Given the description of an element on the screen output the (x, y) to click on. 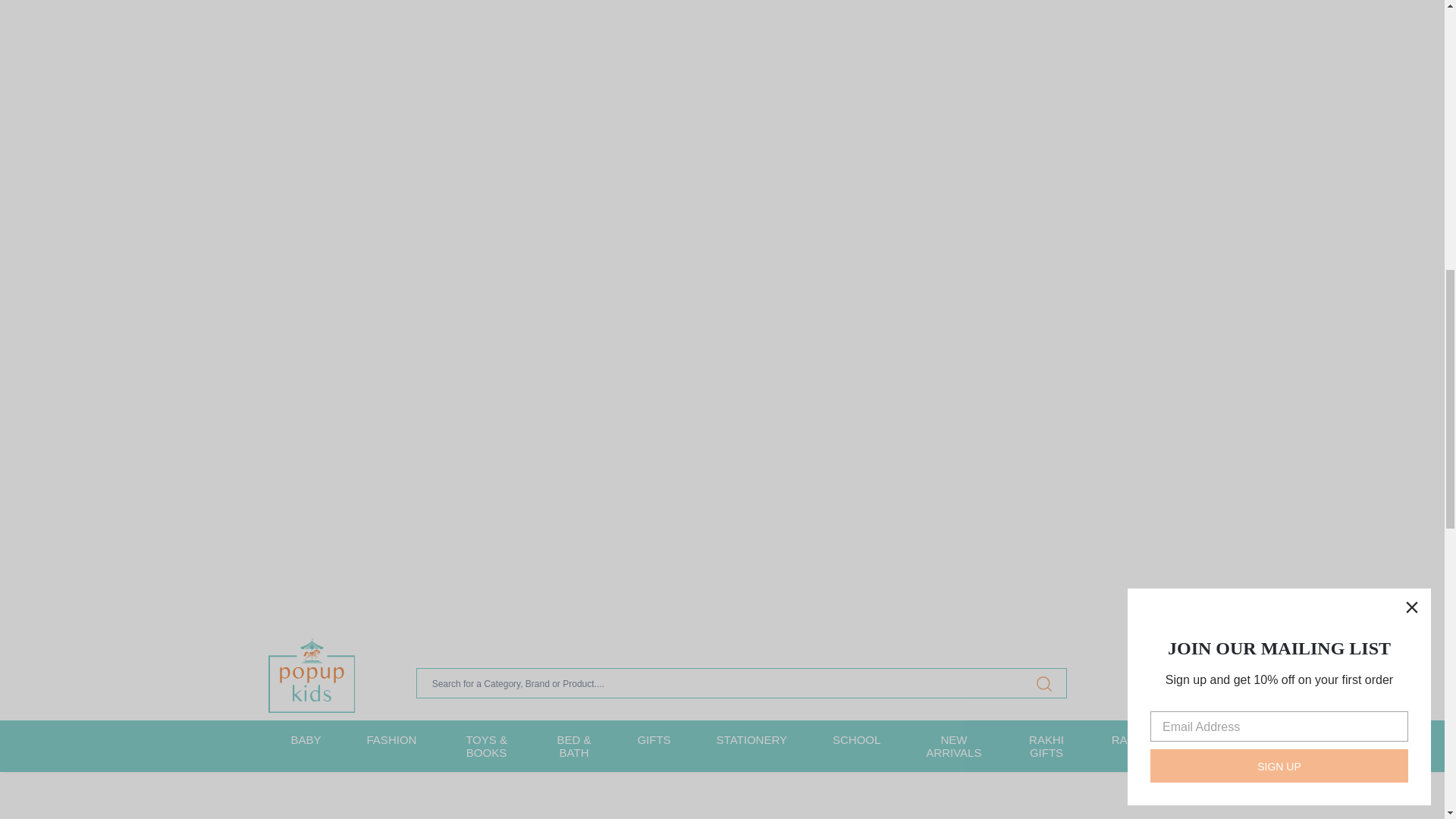
Logo (311, 675)
Cart Icon (1168, 682)
0 (1168, 682)
